Given the description of an element on the screen output the (x, y) to click on. 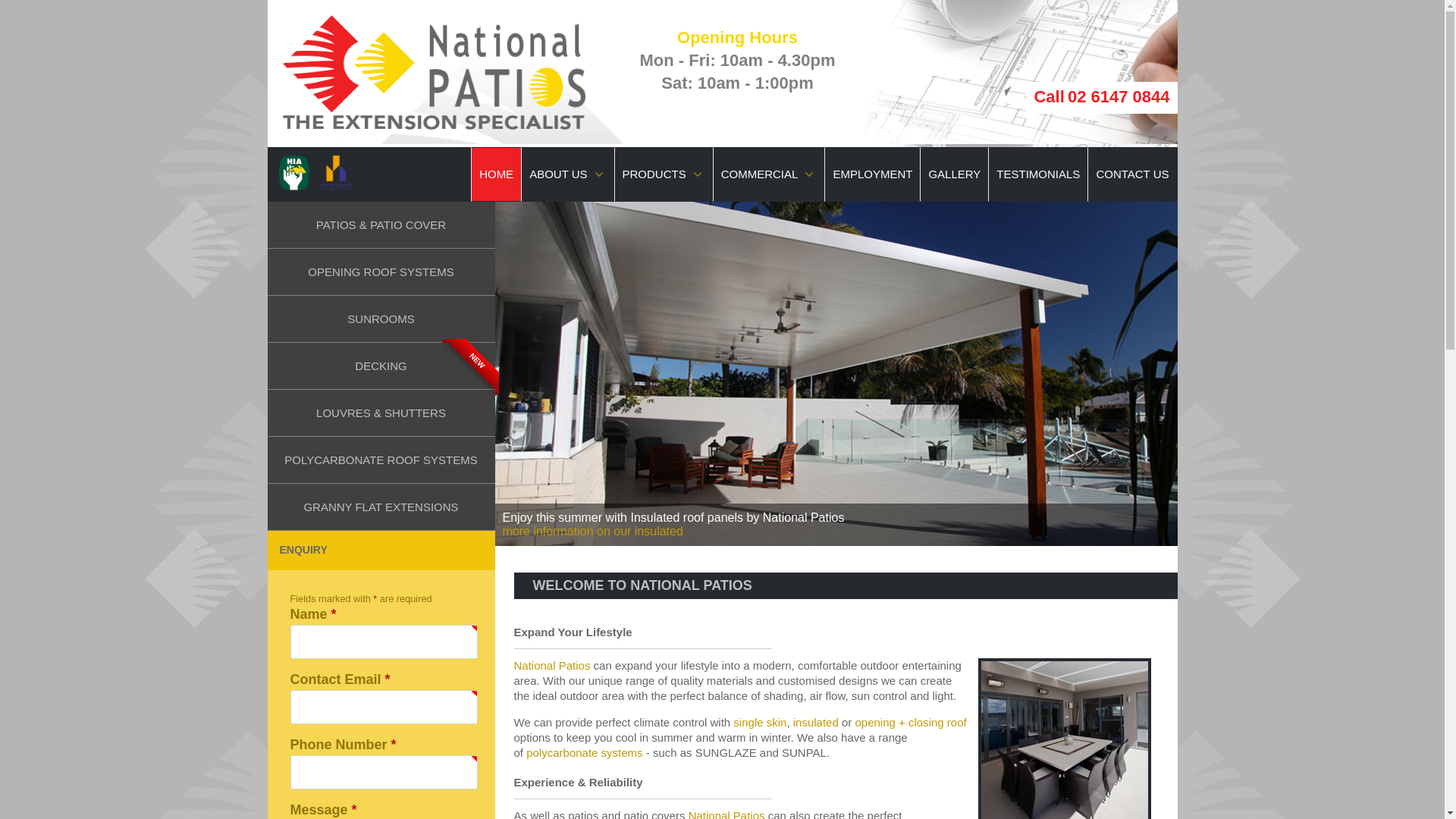
ABOUT US Element type: text (567, 173)
HOME Element type: text (495, 173)
SUNROOMS Element type: text (380, 318)
02 6147 0844 Element type: text (1118, 96)
COMMERCIAL Element type: text (769, 173)
LOUVRES & SHUTTERS Element type: text (380, 412)
PATIOS & PATIO COVER Element type: text (380, 224)
EMPLOYMENT Element type: text (872, 173)
insulated Element type: text (815, 721)
opening + closing roof Element type: text (910, 721)
GALLERY Element type: text (954, 173)
polycarbonate systems Element type: text (584, 752)
more information on our insulated Element type: text (592, 530)
GRANNY FLAT EXTENSIONS Element type: text (380, 506)
TESTIMONIALS Element type: text (1037, 173)
POLYCARBONATE ROOF SYSTEMS Element type: text (380, 459)
CONTACT US Element type: text (1132, 173)
National Patios Element type: text (552, 664)
PRODUCTS Element type: text (663, 173)
DECKING
NEW Element type: text (380, 365)
single skin Element type: text (759, 721)
OPENING ROOF SYSTEMS Element type: text (380, 271)
